Given the description of an element on the screen output the (x, y) to click on. 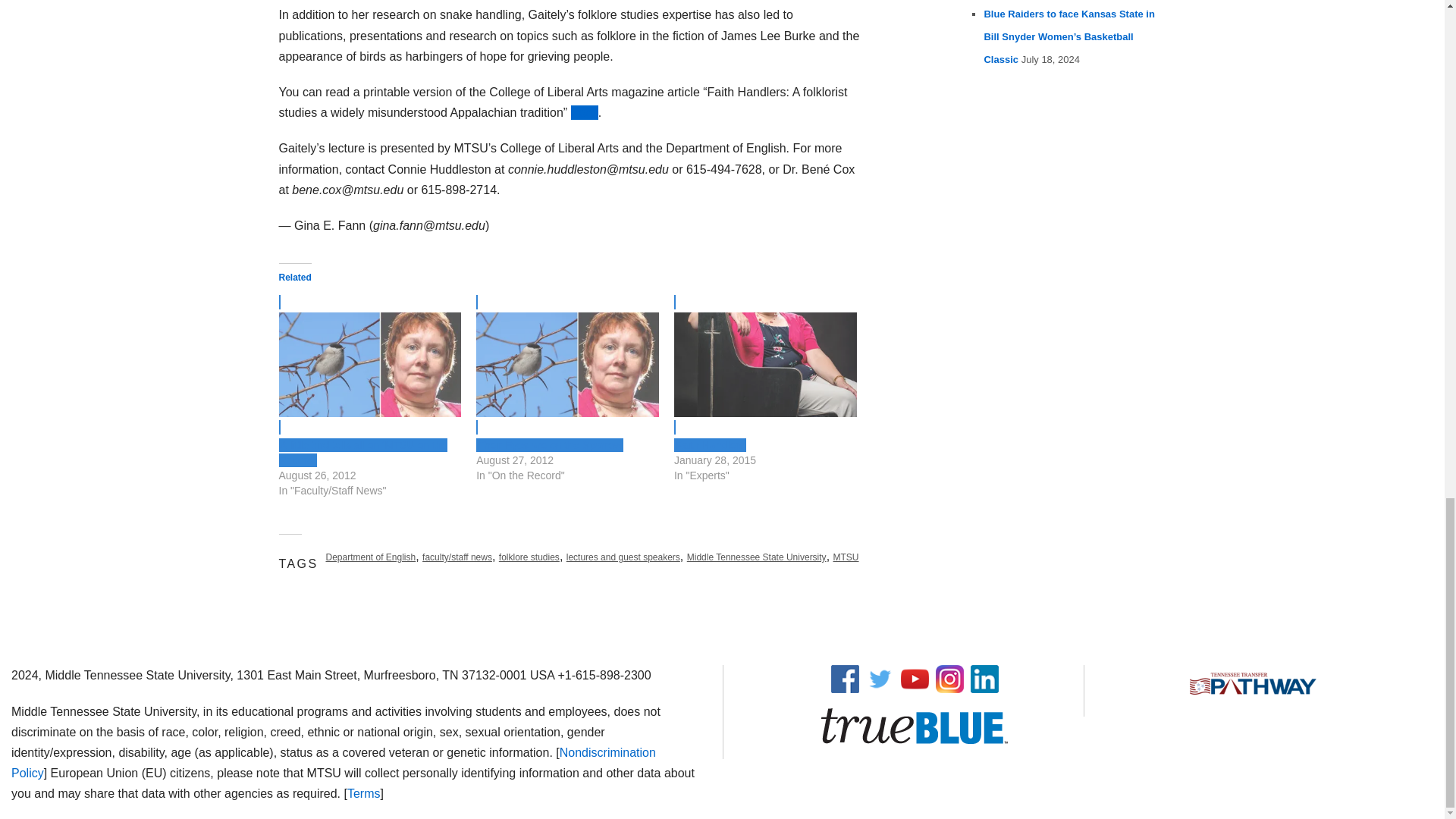
Their Eyes are on the Sparrow (567, 364)
